Given the description of an element on the screen output the (x, y) to click on. 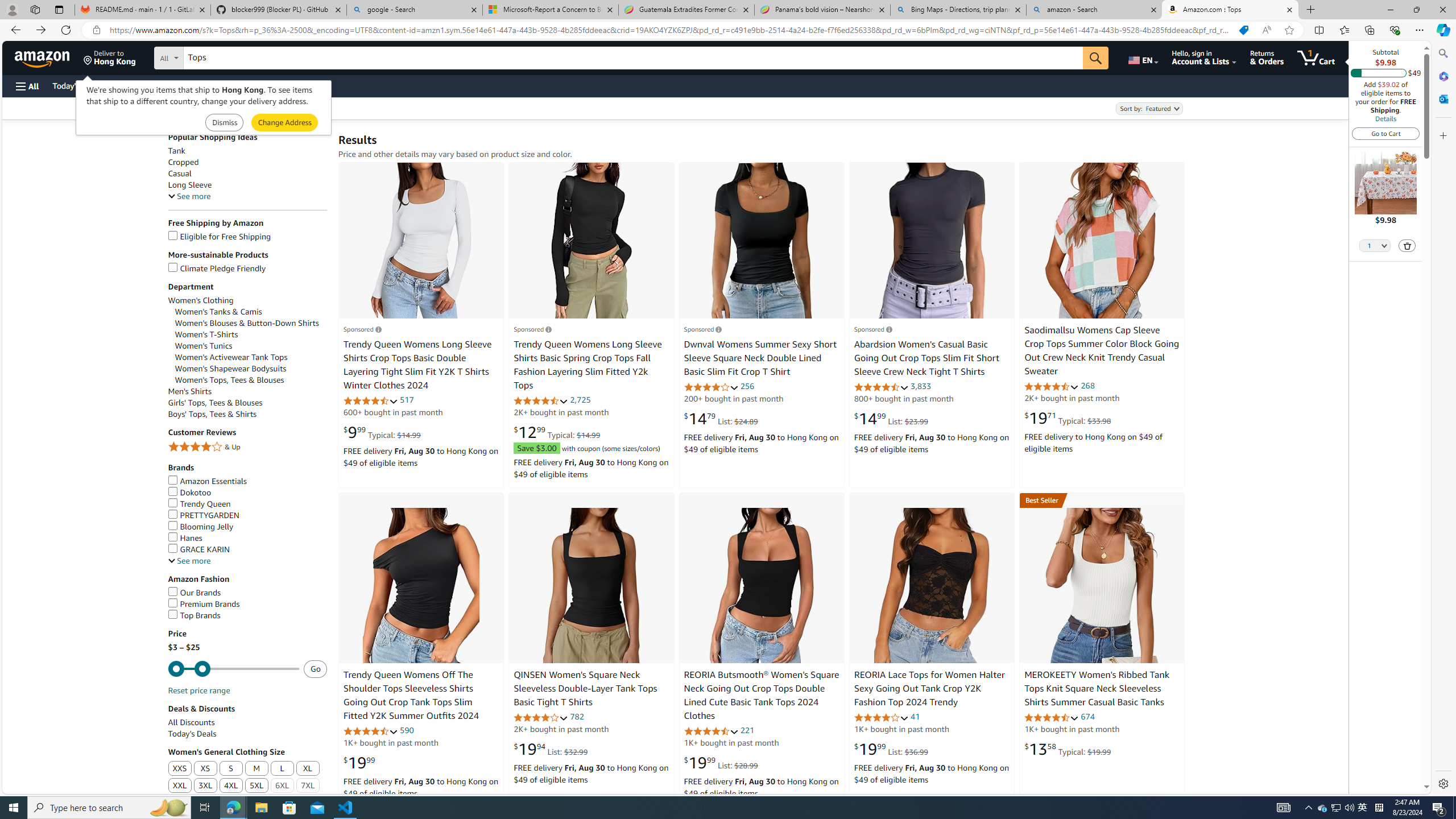
Long Sleeve (247, 185)
Open Menu (26, 86)
Today's Deals (191, 733)
Women's Activewear Tank Tops (231, 357)
Top Brands (194, 614)
GRACE KARIN (198, 549)
Amazon (43, 57)
Our Brands (247, 592)
Cropped (183, 162)
